Given the description of an element on the screen output the (x, y) to click on. 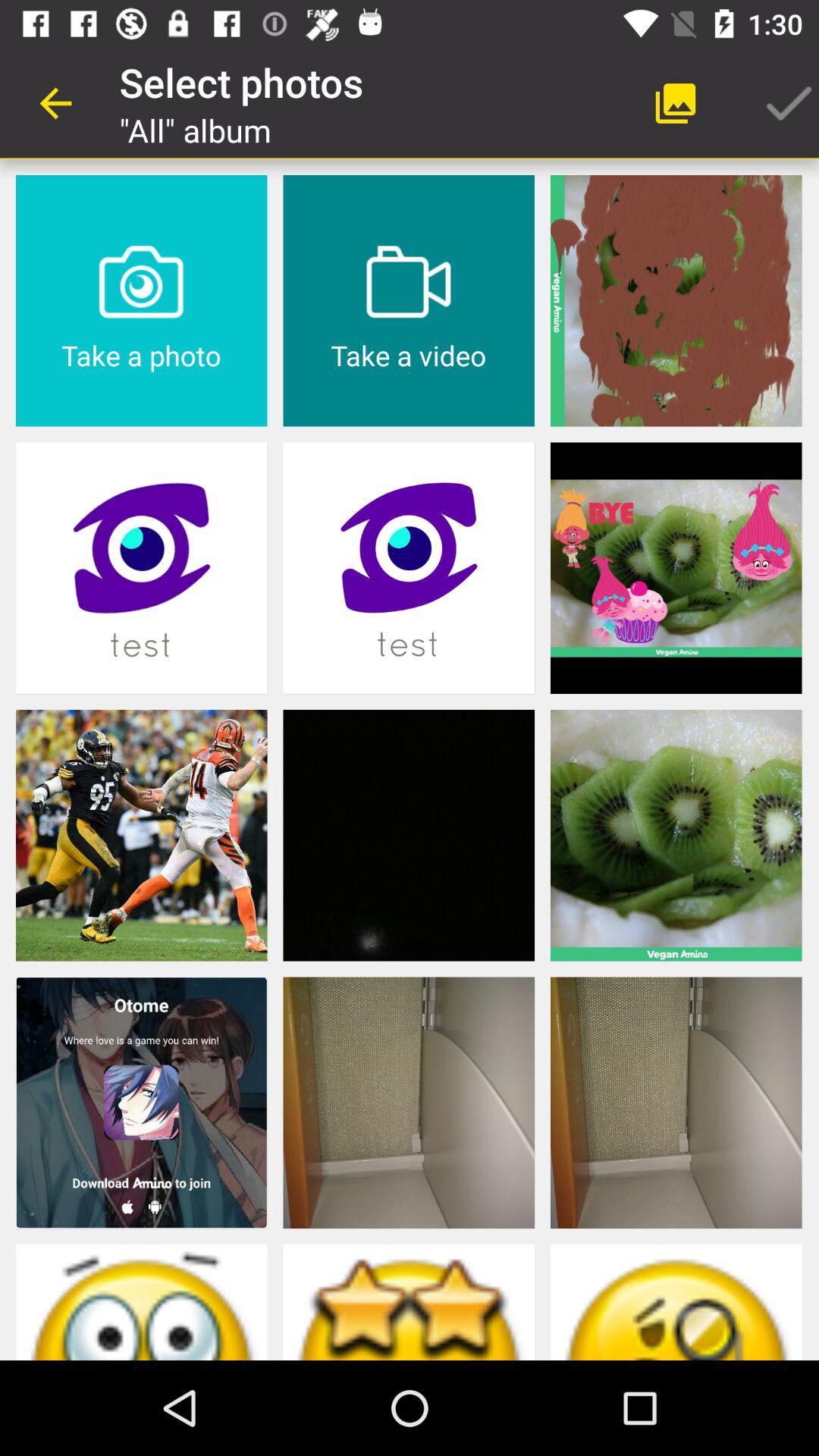
press item to the right of the select photos item (675, 103)
